Given the description of an element on the screen output the (x, y) to click on. 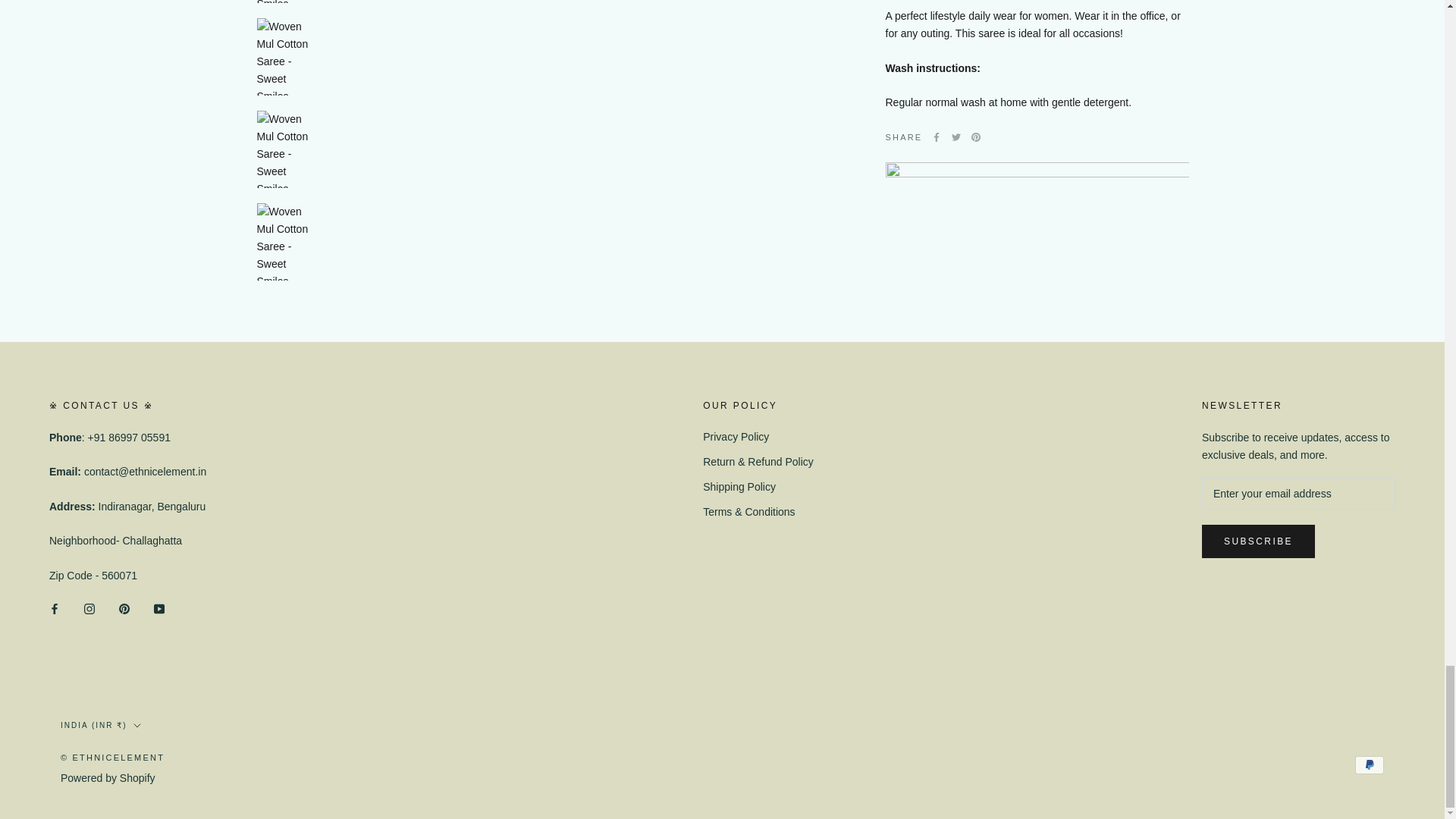
PayPal (1369, 764)
